Given the description of an element on the screen output the (x, y) to click on. 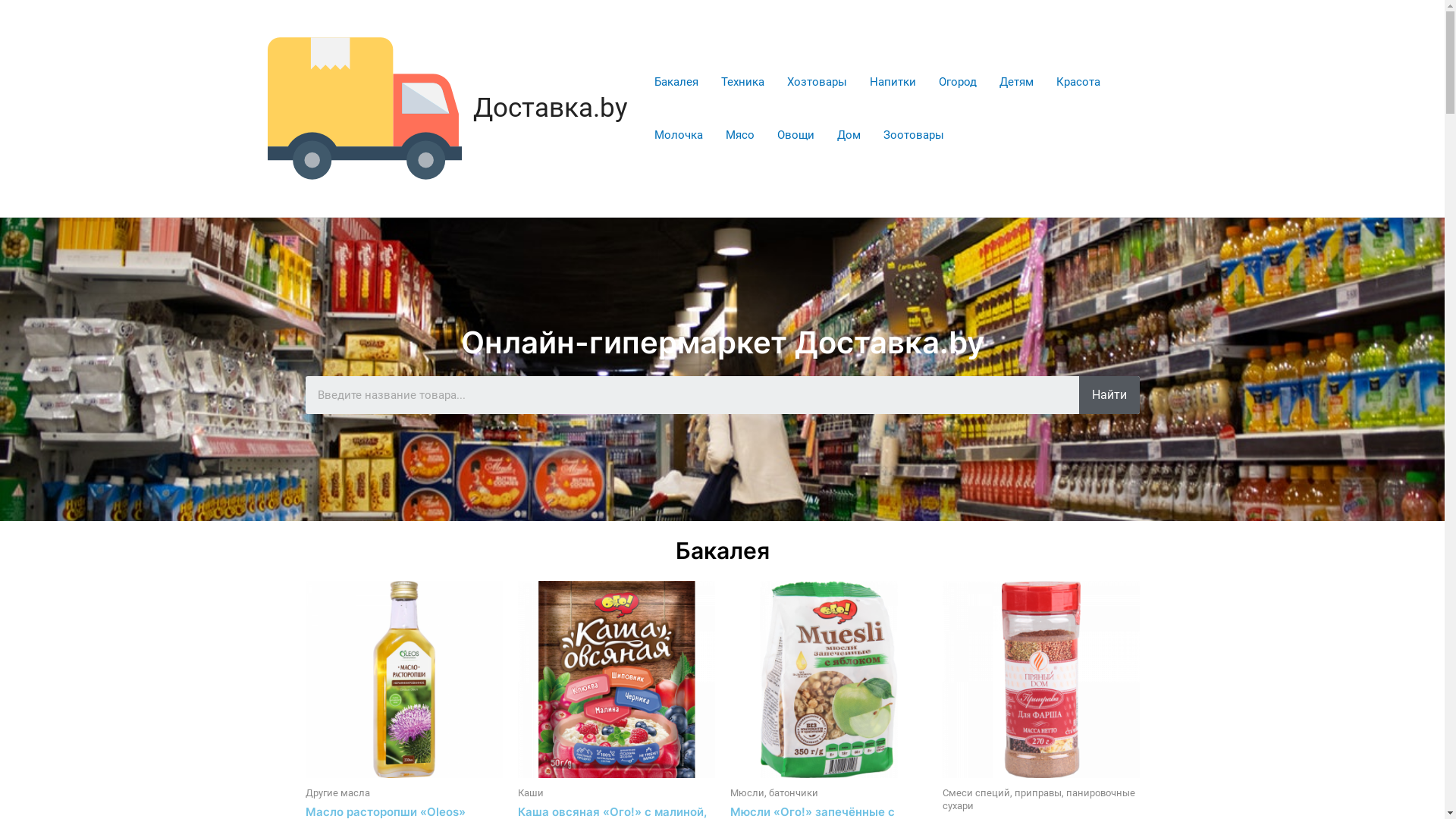
Search Element type: hover (691, 395)
